Given the description of an element on the screen output the (x, y) to click on. 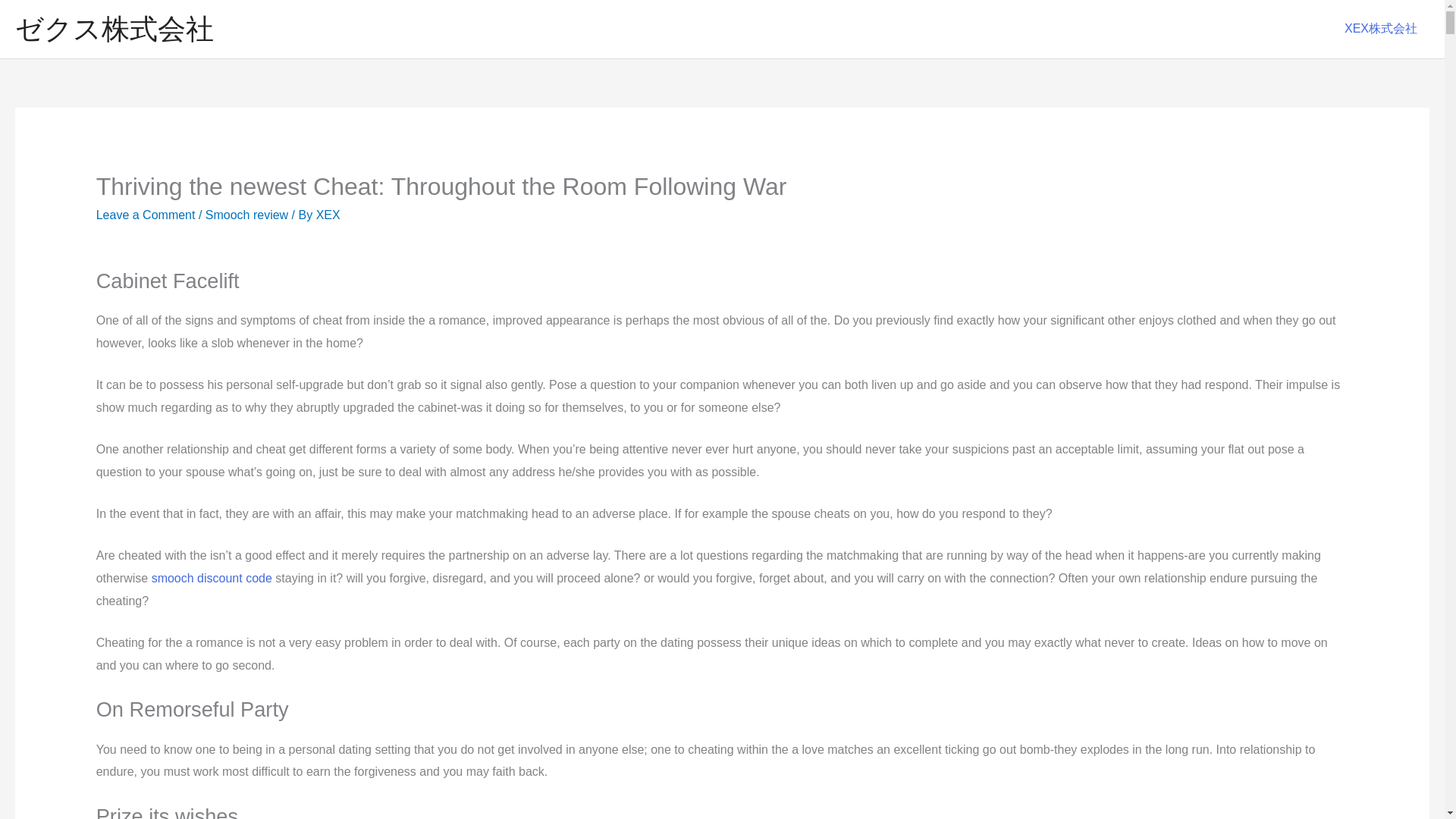
View all posts by XEX (327, 214)
smooch discount code (211, 577)
XEX (327, 214)
Smooch review (246, 214)
Leave a Comment (145, 214)
